Given the description of an element on the screen output the (x, y) to click on. 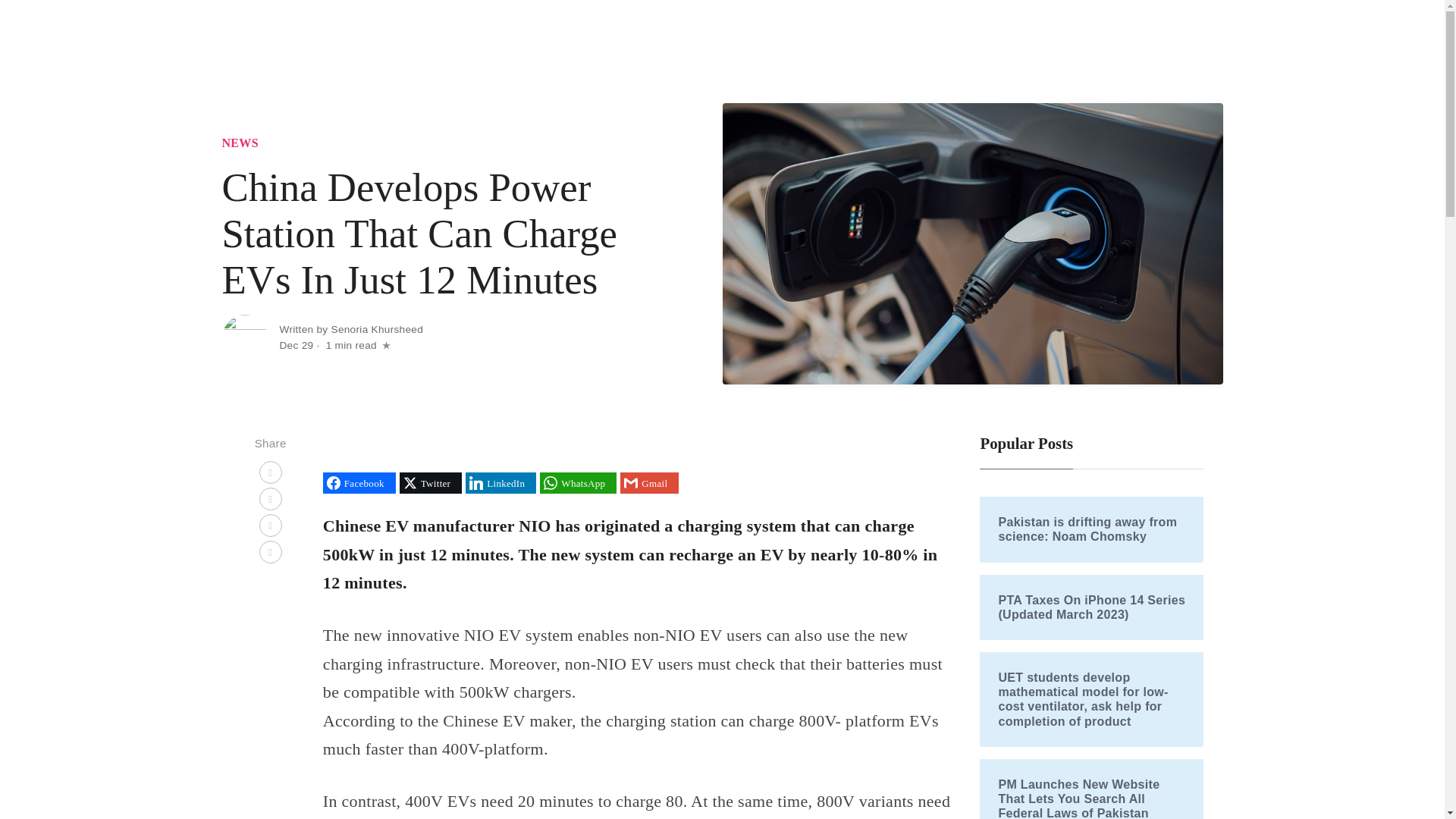
Twitter (429, 482)
Mobile (972, 49)
Technology (849, 49)
Investment (1037, 49)
Share on Gmail (649, 482)
Share on WhatsApp (577, 482)
Writers (1192, 49)
Share on Facebook (359, 482)
Share on LinkedIn (500, 482)
Share on Twitter (429, 482)
